Given the description of an element on the screen output the (x, y) to click on. 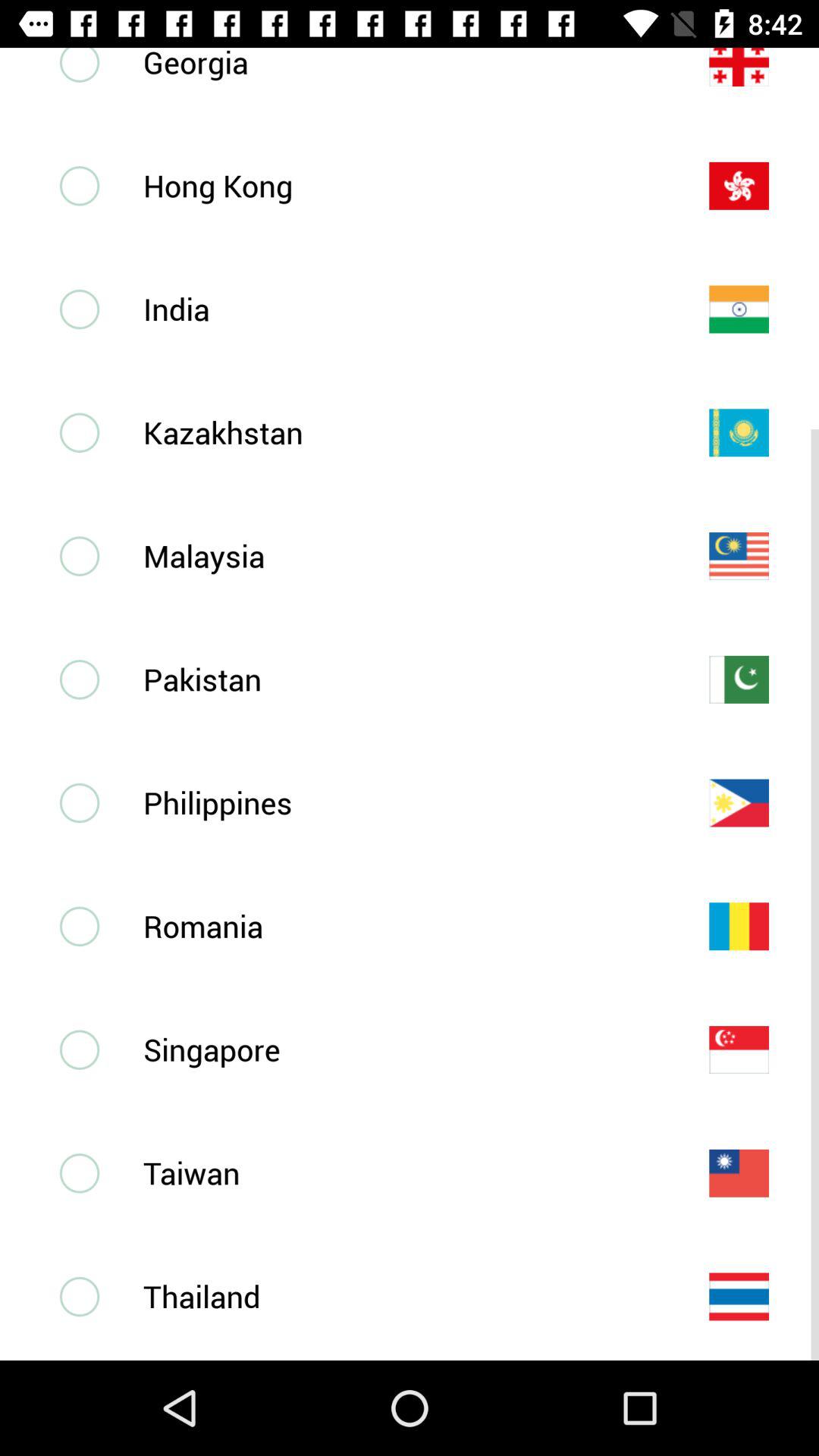
swipe to hong kong (401, 185)
